Given the description of an element on the screen output the (x, y) to click on. 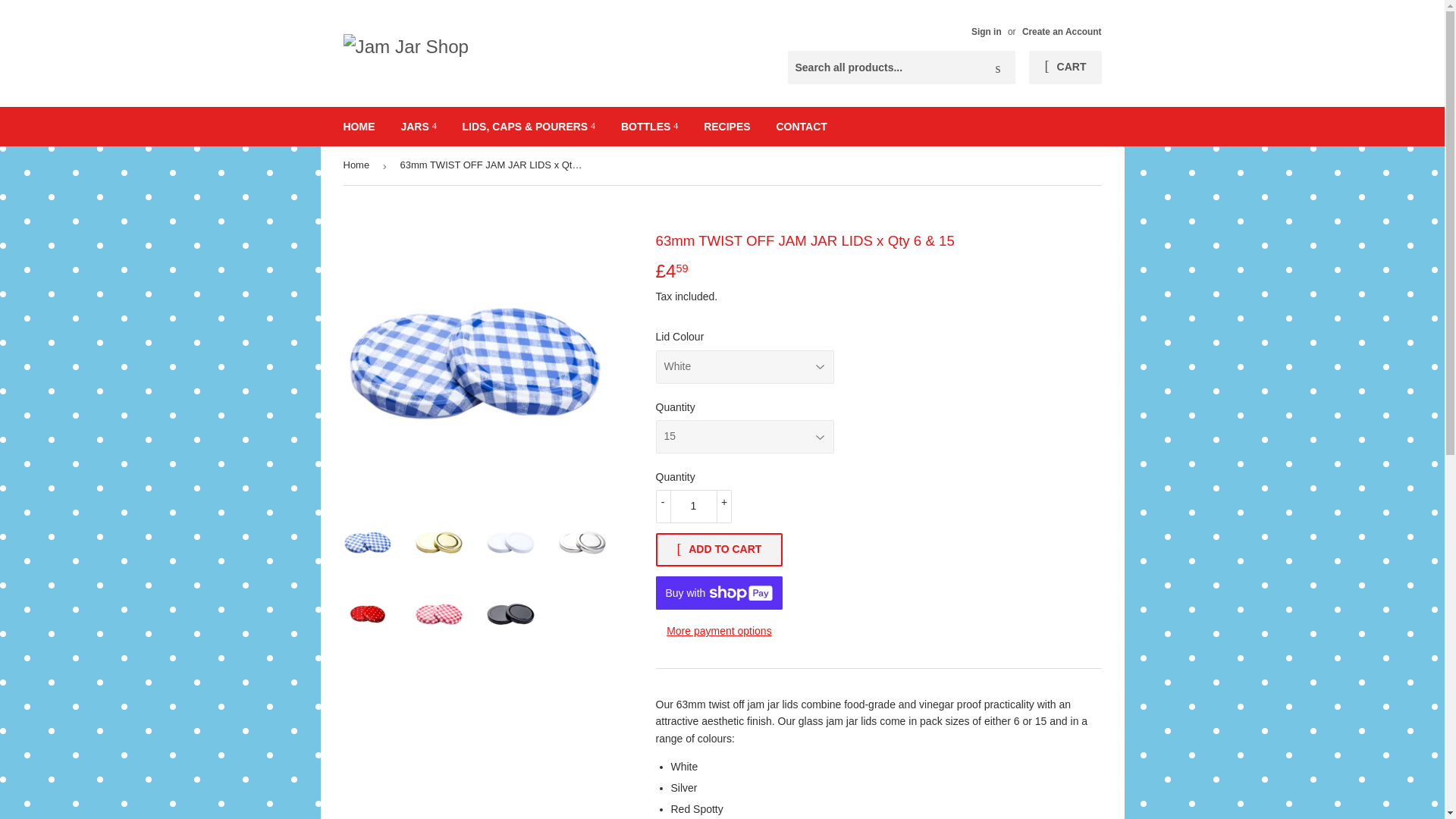
Sign in (986, 31)
HOME (359, 126)
JARS (417, 126)
Search (997, 68)
Create an Account (1062, 31)
CART (1064, 67)
1 (692, 506)
